Given the description of an element on the screen output the (x, y) to click on. 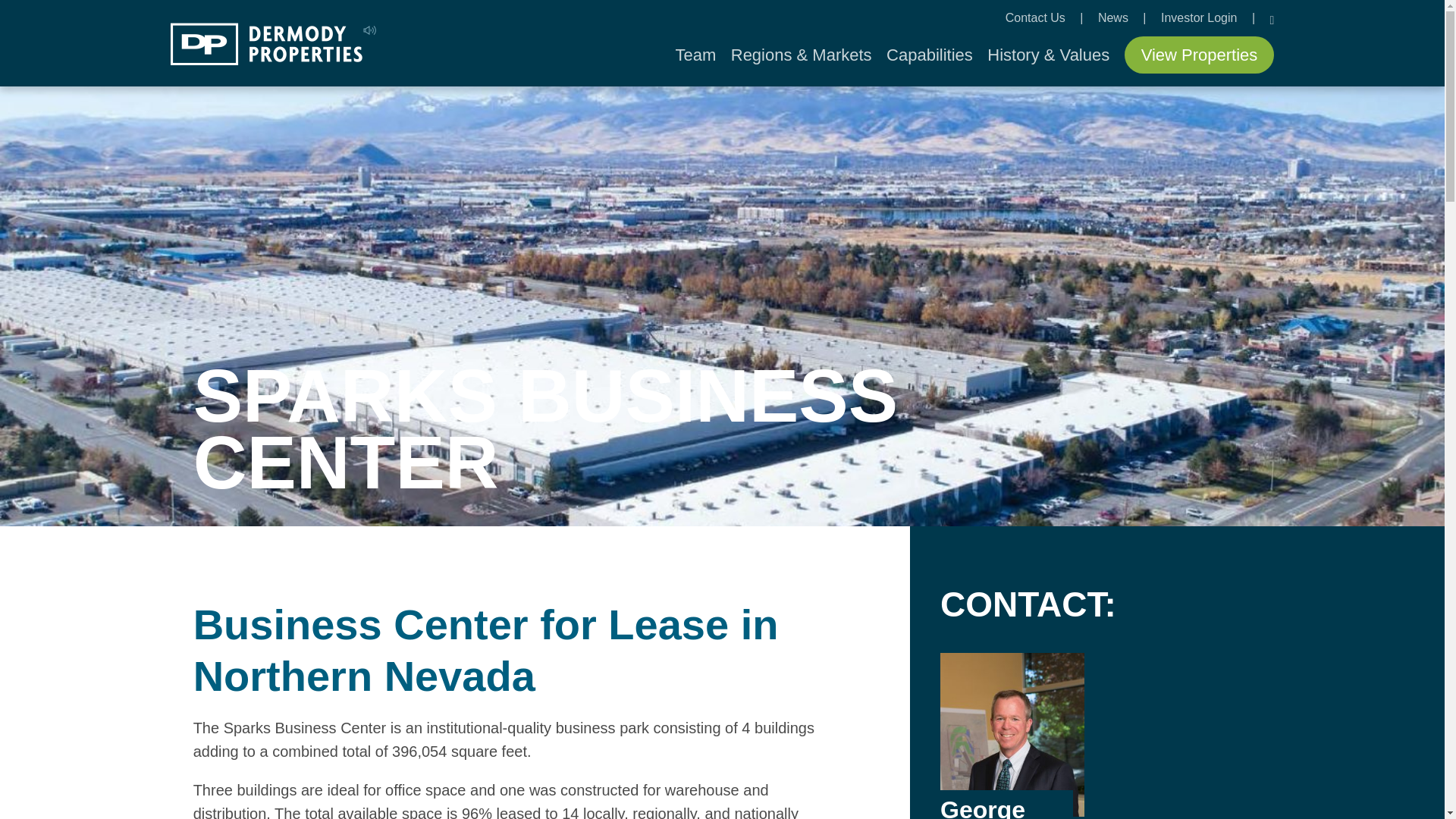
Team (695, 54)
Capabilities (929, 54)
View Properties (1199, 54)
Investor Login (1200, 17)
Contact Us (1037, 17)
News (1114, 17)
